Given the description of an element on the screen output the (x, y) to click on. 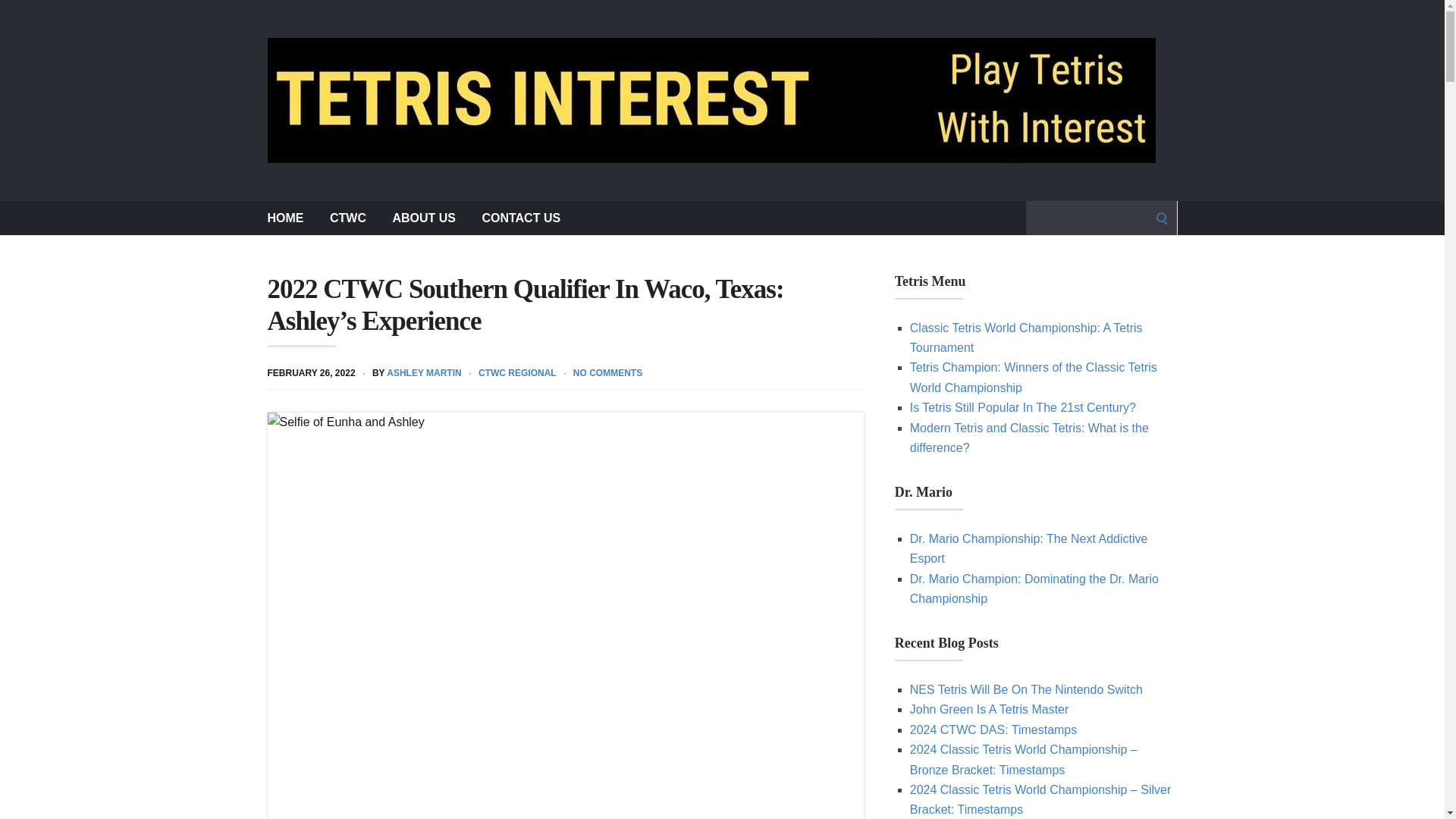
NES Tetris Will Be On The Nintendo Switch (1026, 689)
Is Tetris Still Popular In The 21st Century? (1022, 407)
Dr. Mario Champion: Dominating the Dr. Mario Championship (1034, 588)
CTWC (348, 217)
HOME (284, 217)
Search (16, 17)
John Green Is A Tetris Master (989, 708)
ABOUT US (423, 217)
Modern Tetris and Classic Tetris: What is the difference? (1029, 437)
ASHLEY MARTIN (424, 372)
